Given the description of an element on the screen output the (x, y) to click on. 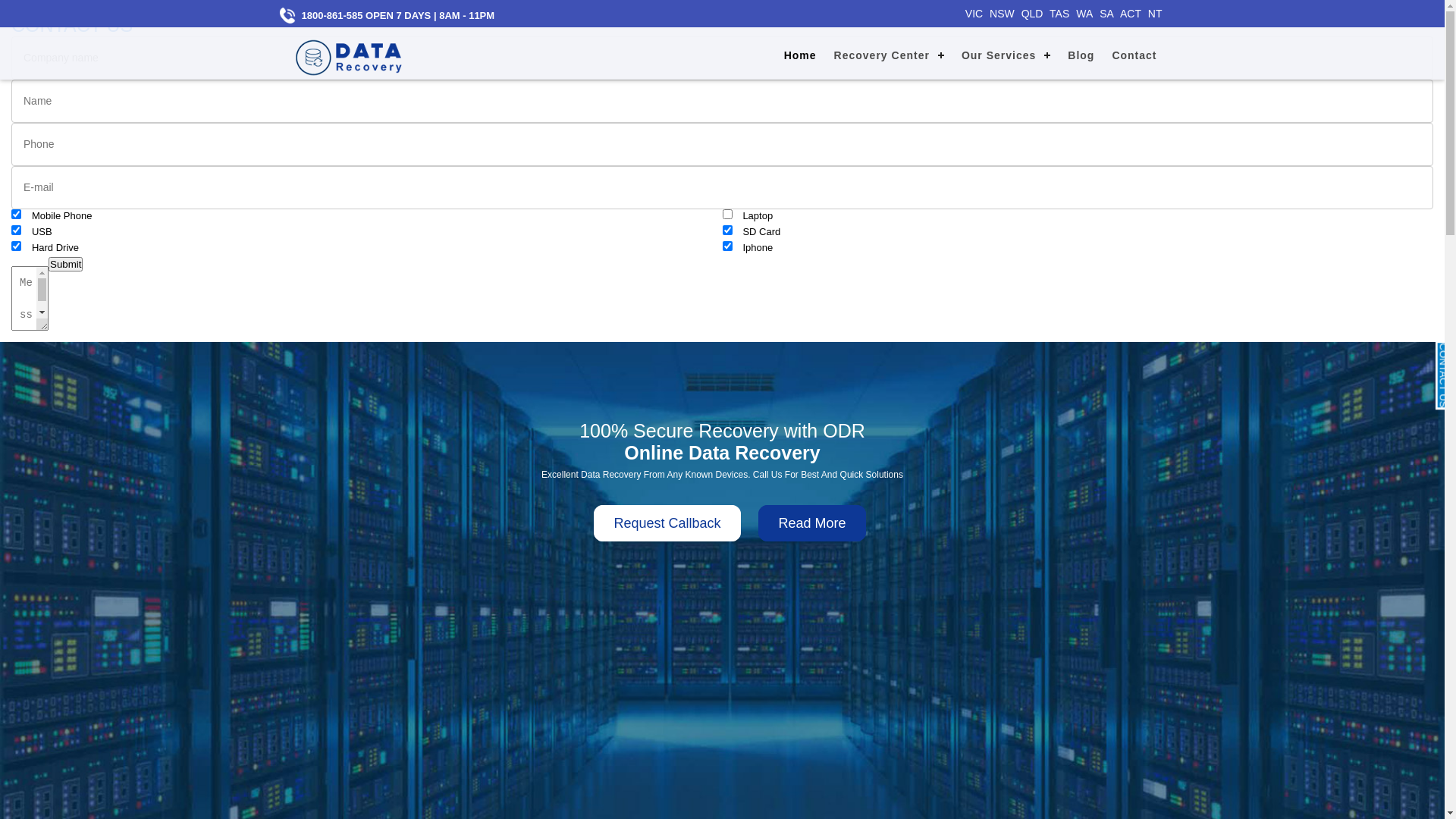
Our Services Element type: text (1005, 53)
Blog Element type: text (1080, 53)
Home Element type: text (800, 53)
TAS Element type: text (1061, 13)
WA Element type: text (1086, 13)
Contact Element type: text (1133, 53)
QLD Element type: text (1034, 13)
VIC Element type: text (975, 13)
ACT Element type: text (1132, 13)
SA Element type: text (1108, 13)
Recovery Center Element type: text (888, 53)
NSW Element type: text (1003, 13)
Read More Element type: text (811, 523)
Request Callback Element type: text (666, 523)
NT Element type: text (1157, 13)
Submit Element type: text (65, 264)
